Given the description of an element on the screen output the (x, y) to click on. 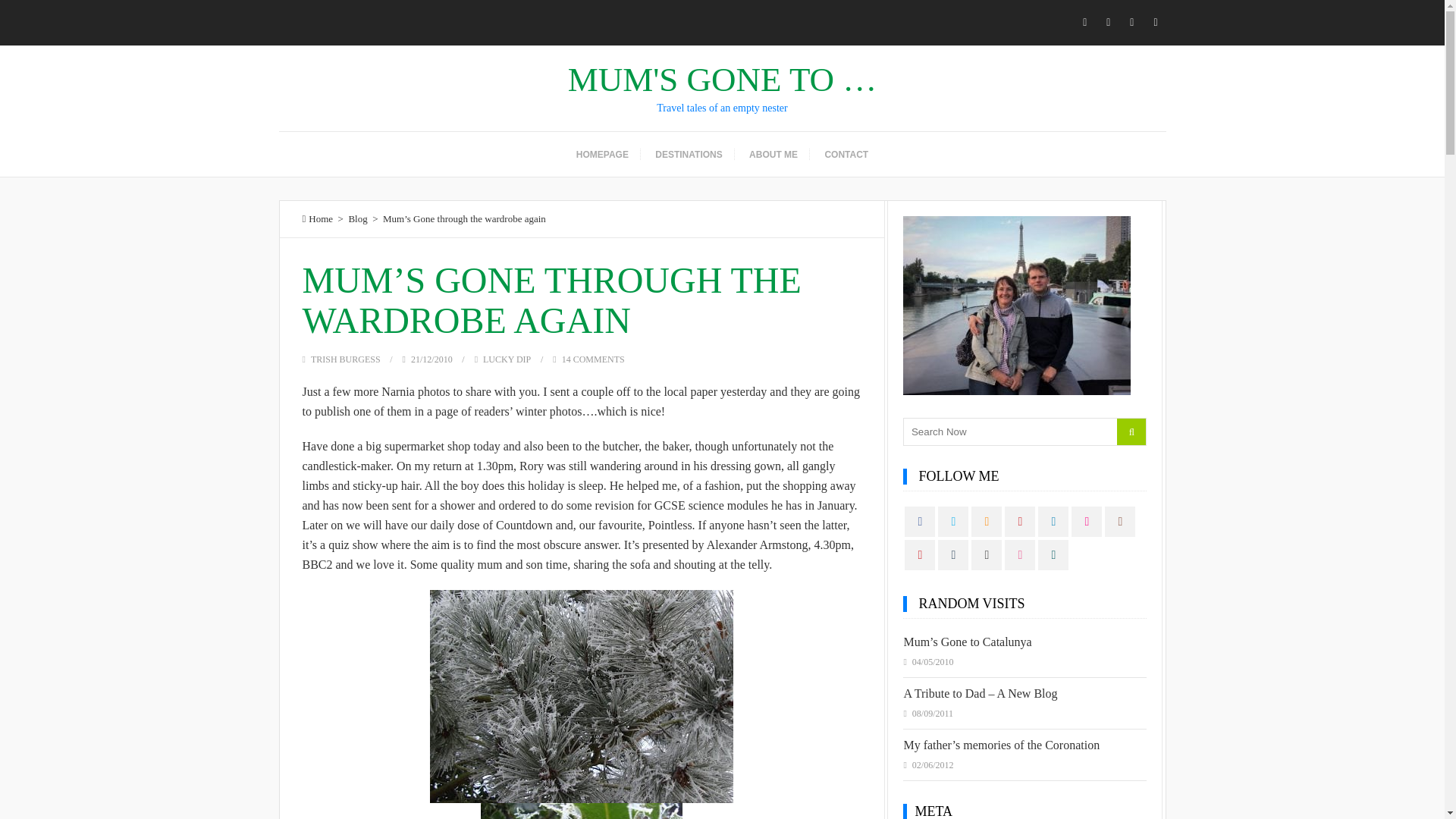
HOMEPAGE (602, 154)
ABOUT ME (772, 154)
CONTACT (846, 154)
14 COMMENTS (593, 358)
DESTINATIONS (688, 154)
LUCKY DIP (507, 358)
Home (317, 218)
Posts by Trish Burgess (345, 358)
Blog (356, 218)
TRISH BURGESS (345, 358)
